Given the description of an element on the screen output the (x, y) to click on. 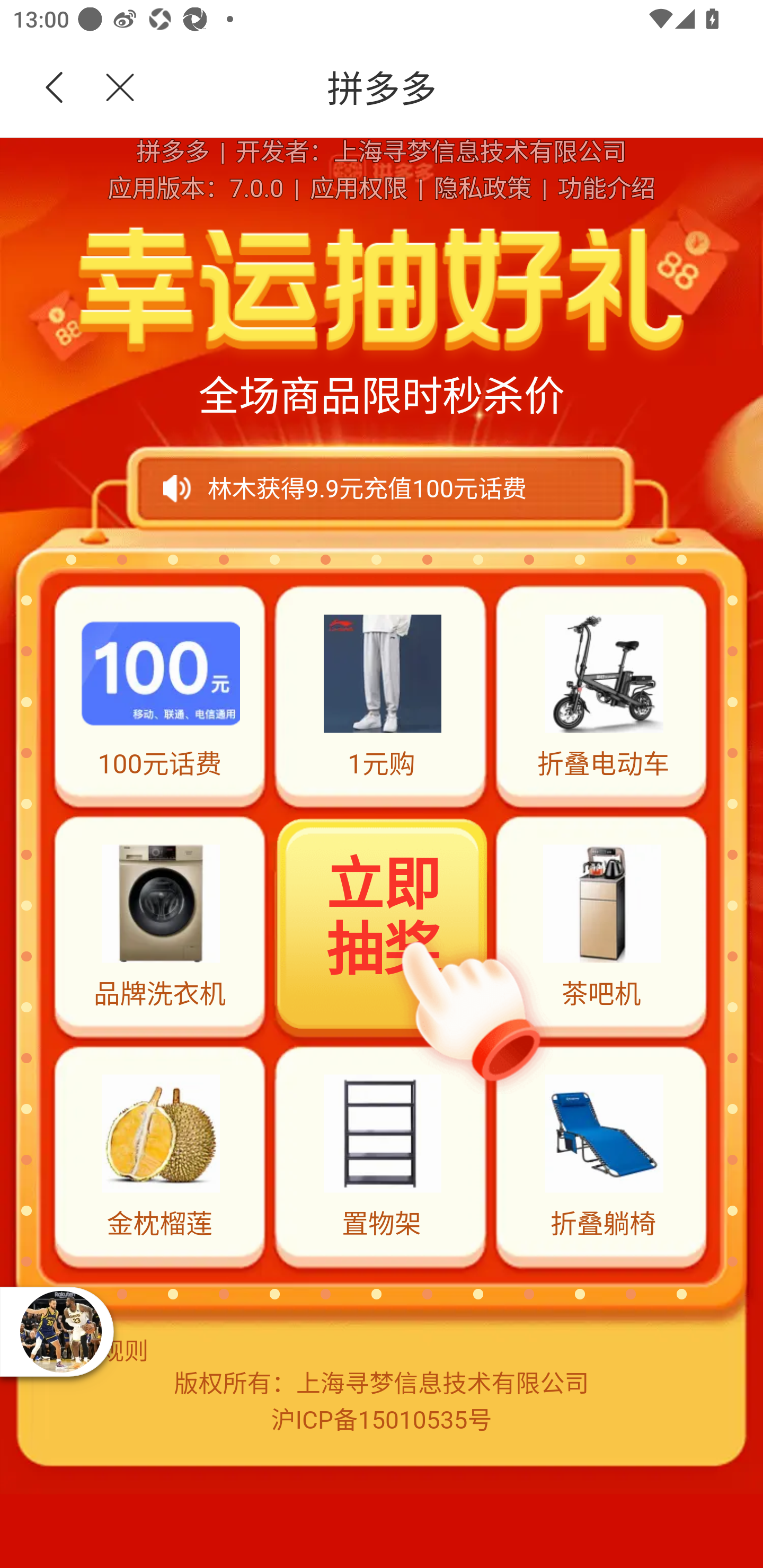
 (109, 87)
拼多多 (451, 87)
 返回 (54, 87)
立即抽奖 (382, 924)
播放器 (60, 1331)
